Given the description of an element on the screen output the (x, y) to click on. 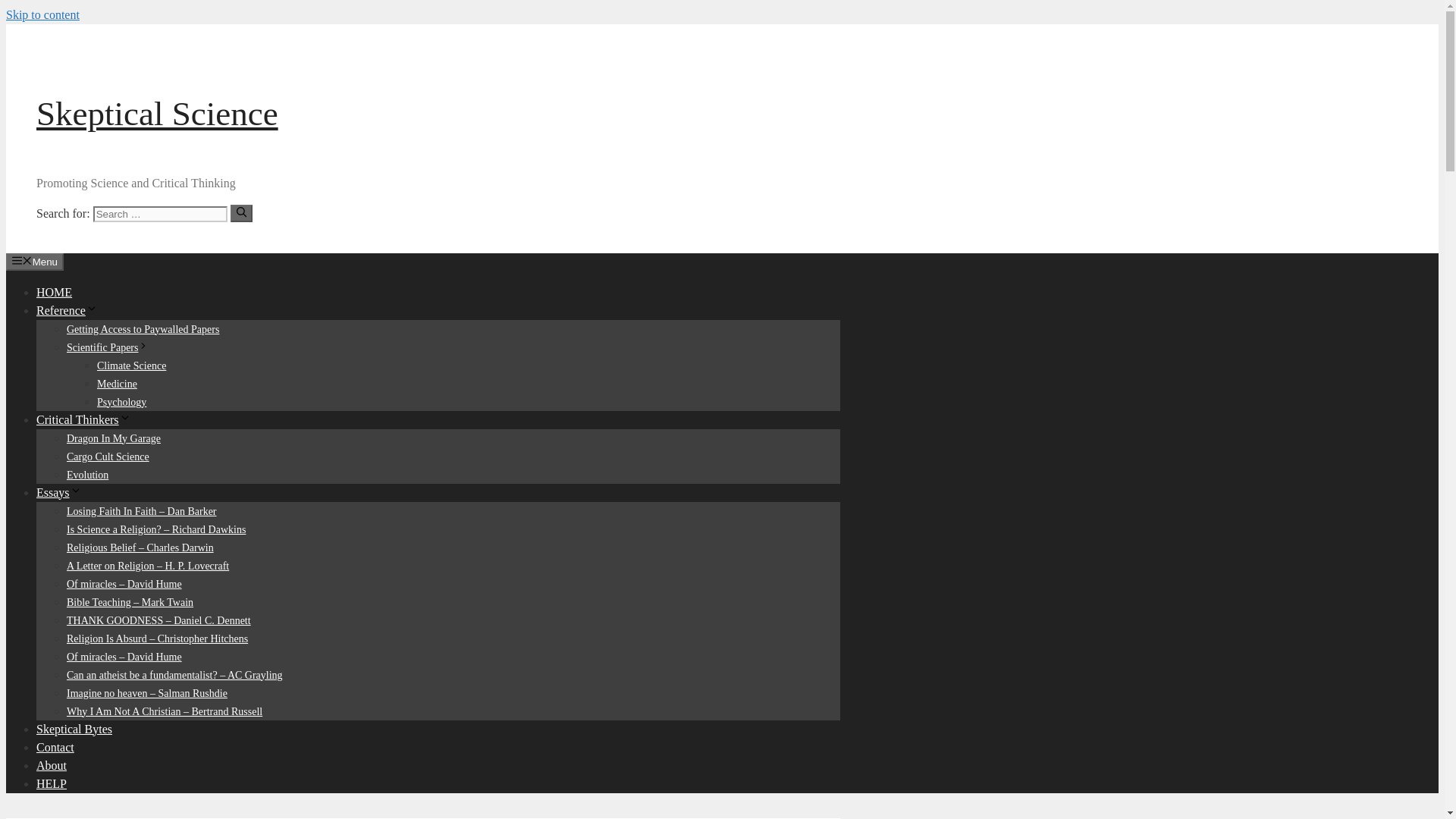
Climate Science (131, 365)
Skeptical Bytes (74, 727)
Dragon In My Garage (113, 437)
Getting Access to Paywalled Papers (142, 328)
Skip to content (42, 14)
Medicine (116, 383)
Menu (34, 261)
HELP (51, 782)
HOME (53, 291)
Essays (58, 491)
Critical Thinkers (83, 418)
Reference (66, 309)
Evolution (86, 473)
Contact (55, 746)
About (51, 764)
